Given the description of an element on the screen output the (x, y) to click on. 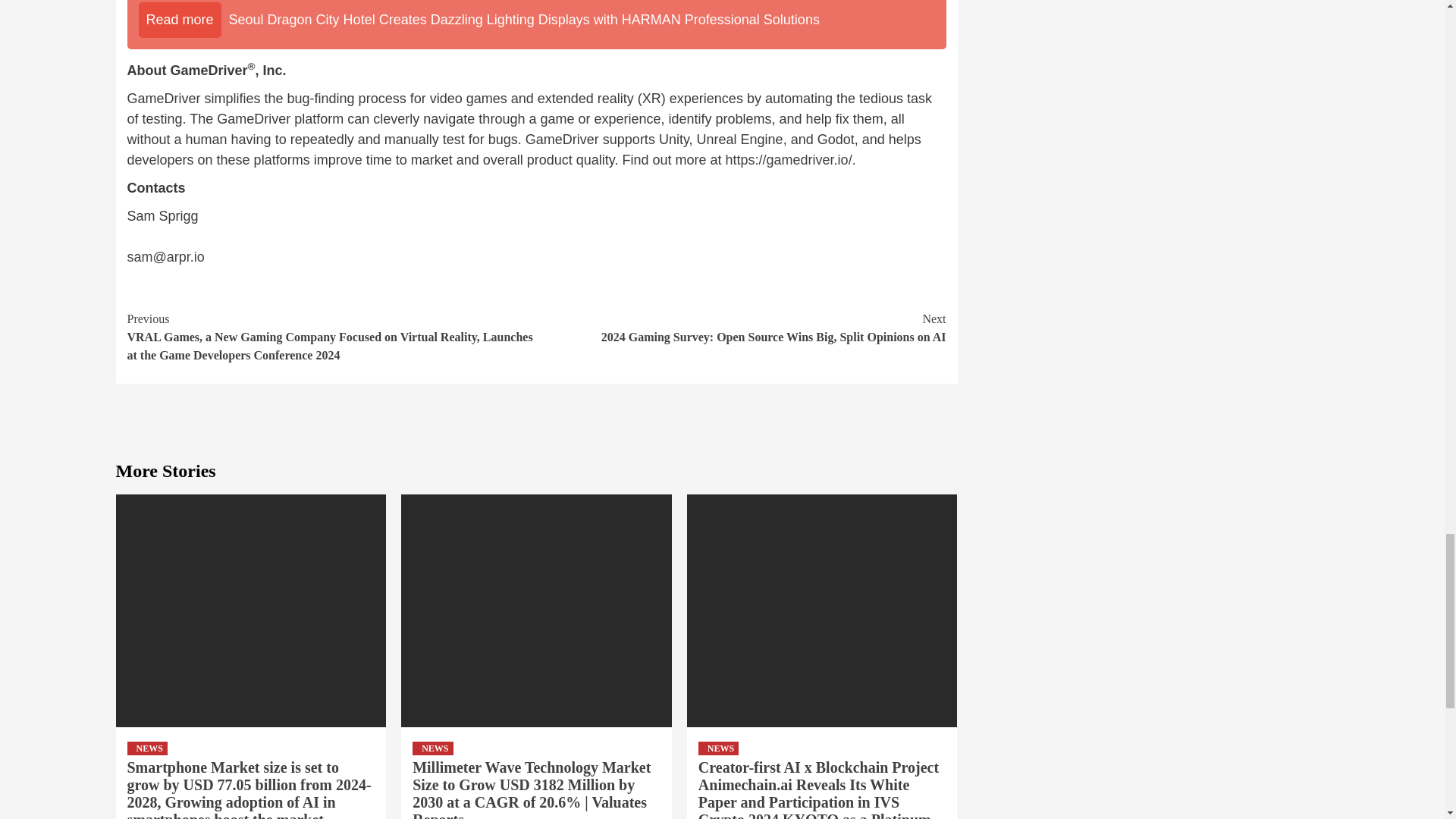
NEWS (147, 748)
